Given the description of an element on the screen output the (x, y) to click on. 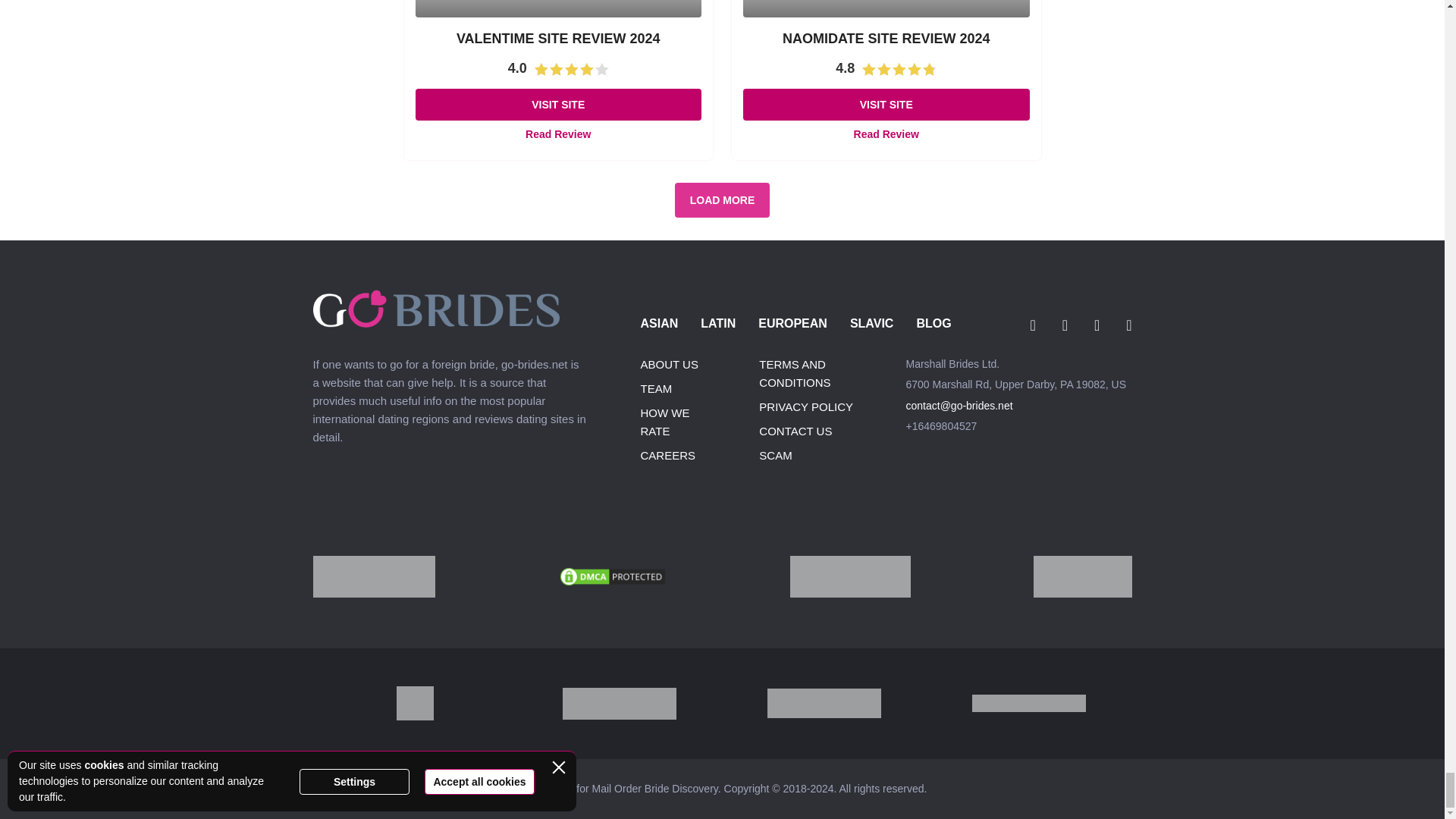
Our Score (898, 69)
DMCA.com Protection Status (611, 583)
GoBrides (436, 323)
Our Score (571, 69)
